Given the description of an element on the screen output the (x, y) to click on. 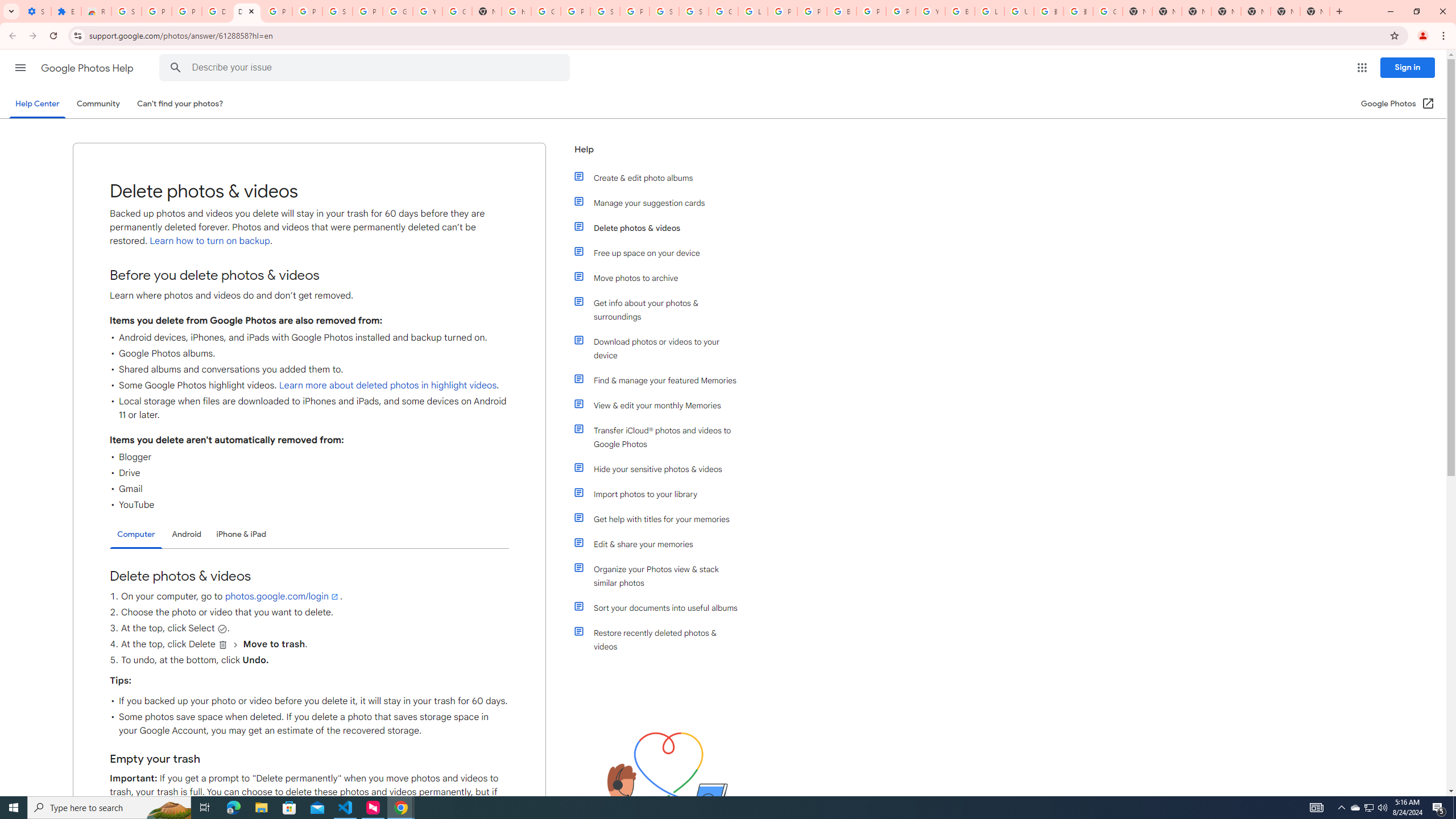
Extensions (65, 11)
Google Account (397, 11)
Free up space on your device (661, 252)
